Given the description of an element on the screen output the (x, y) to click on. 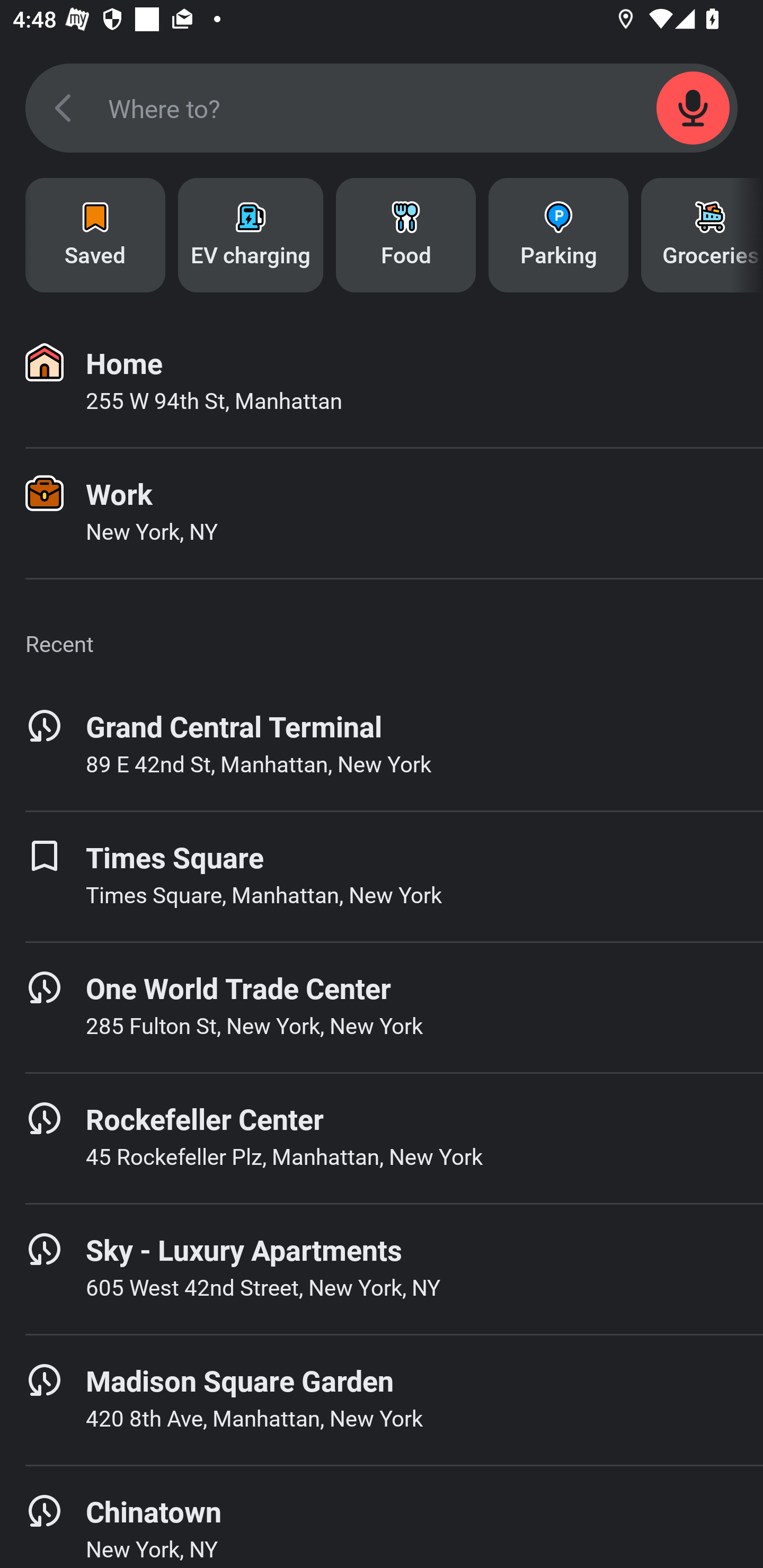
SEARCH_SCREEN_SEARCH_FIELD Where to? (381, 108)
Saved (95, 234)
EV charging (250, 234)
Food (405, 234)
Parking (558, 234)
Groceries (701, 234)
Home 255 W 94th St, Manhattan (381, 382)
Work New York, NY (381, 513)
Times Square Times Square, Manhattan, New York (381, 876)
Chinatown New York, NY (381, 1517)
